Given the description of an element on the screen output the (x, y) to click on. 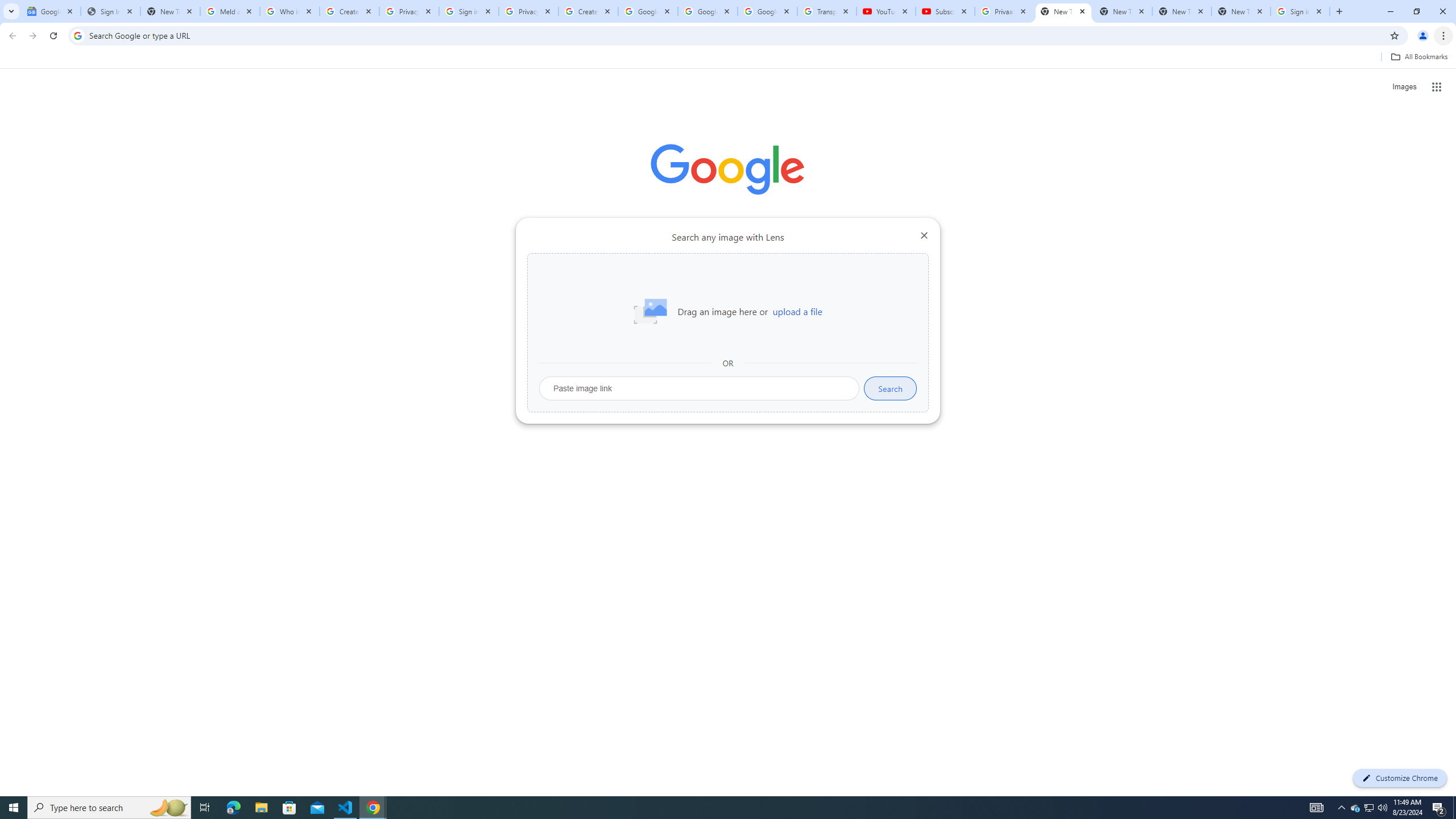
Add shortcut (855, 287)
More actions for Sign in shortcut (814, 265)
YouTube (885, 11)
Create your Google Account (588, 11)
Sign in - Google Accounts (468, 11)
